Given the description of an element on the screen output the (x, y) to click on. 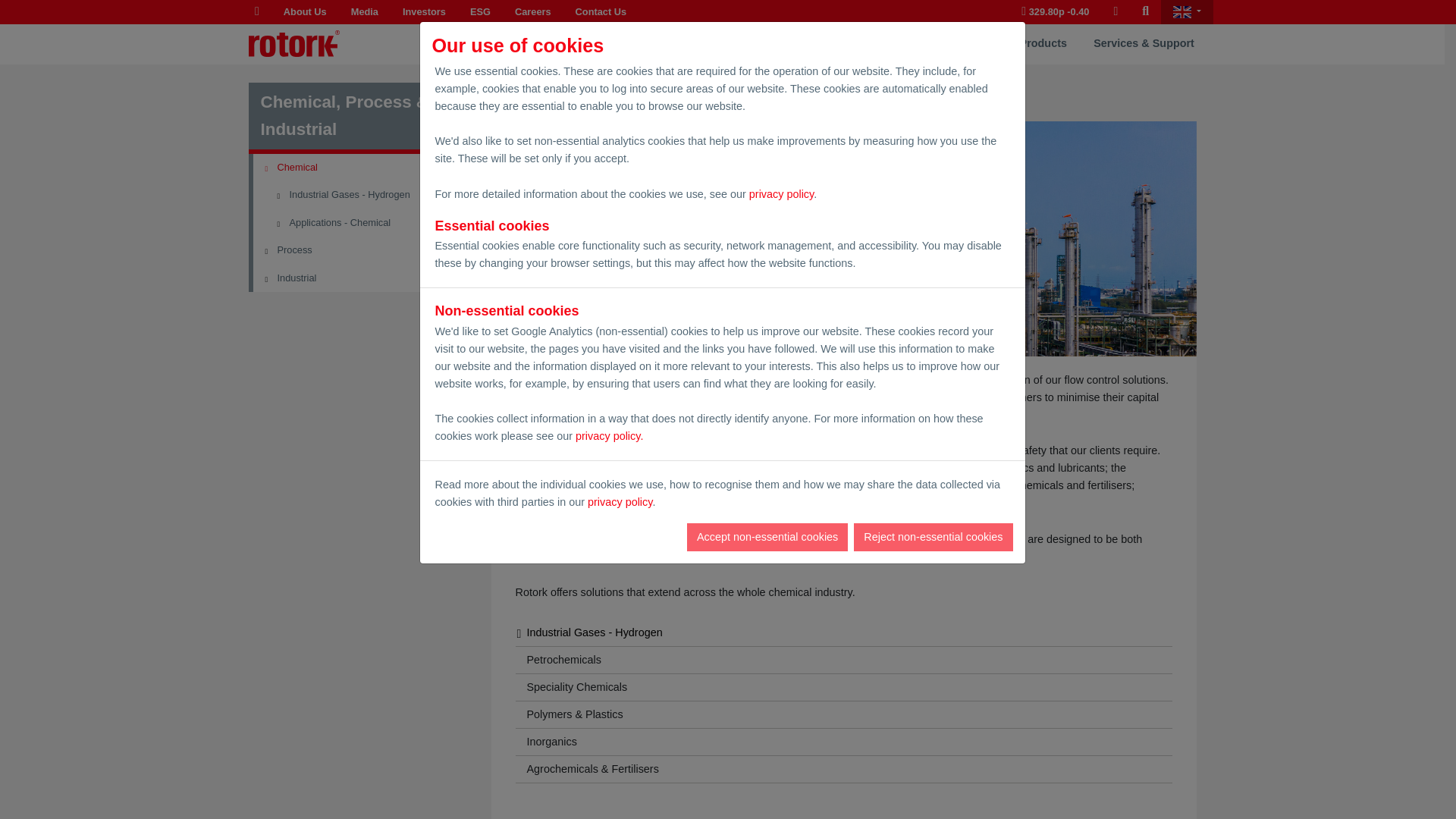
About Us (304, 12)
About Us (304, 12)
Media (364, 12)
Home (256, 12)
